Given the description of an element on the screen output the (x, y) to click on. 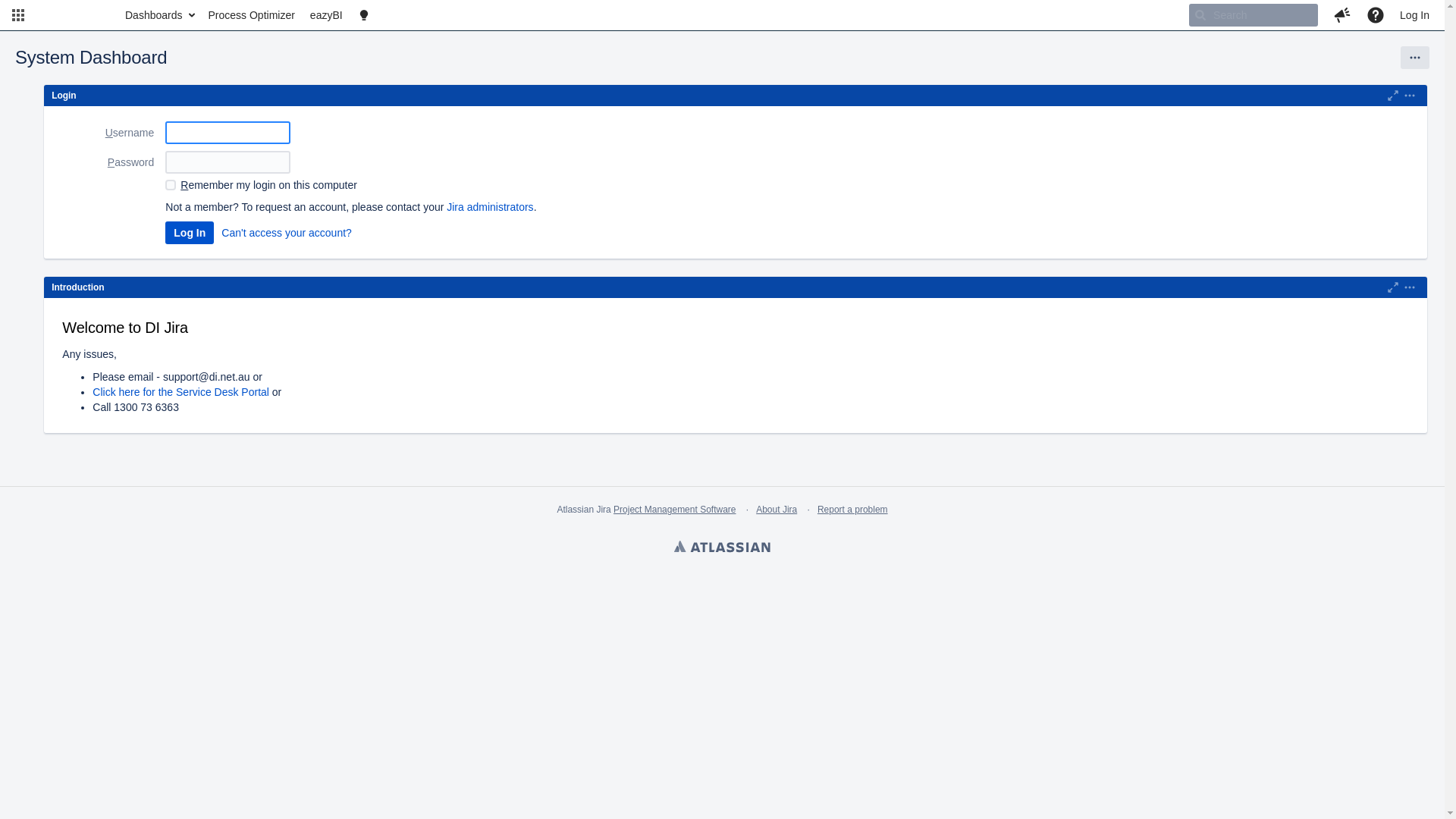
Can't access your account? Element type: text (286, 232)
Process Optimizer Element type: text (250, 15)
Linked Applications Element type: text (17, 15)
Jira administrators Element type: text (489, 206)
Toggle Dark Mode Element type: text (363, 15)
Help Element type: text (1375, 15)
Log In Element type: text (189, 232)
Tools Element type: text (1414, 57)
Maximise Element type: hover (1392, 95)
Atlassian Element type: text (722, 547)
Dashboards Element type: text (158, 15)
Search Element type: hover (1253, 14)
Click here for the Service Desk Portal Element type: text (180, 391)
About Jira Element type: text (776, 509)
Log In Element type: text (1414, 15)
Project Management Software Element type: text (674, 509)
Give feedback to Atlassian Element type: text (1341, 15)
Maximise Element type: hover (1392, 287)
Report a problem Element type: text (852, 509)
eazyBI Element type: text (326, 15)
